Given the description of an element on the screen output the (x, y) to click on. 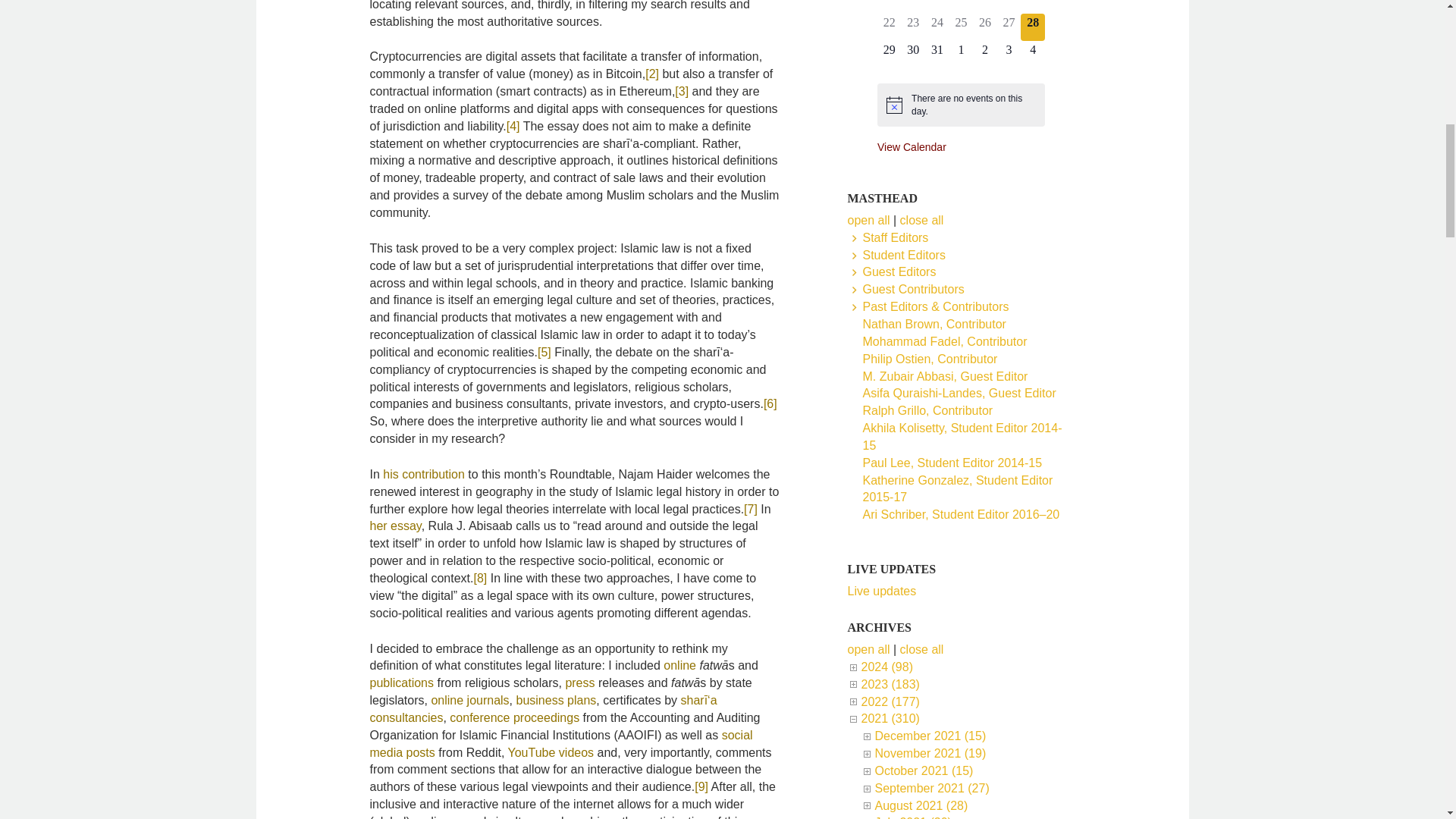
open all (868, 649)
close all (921, 649)
View more events. (911, 146)
